Given the description of an element on the screen output the (x, y) to click on. 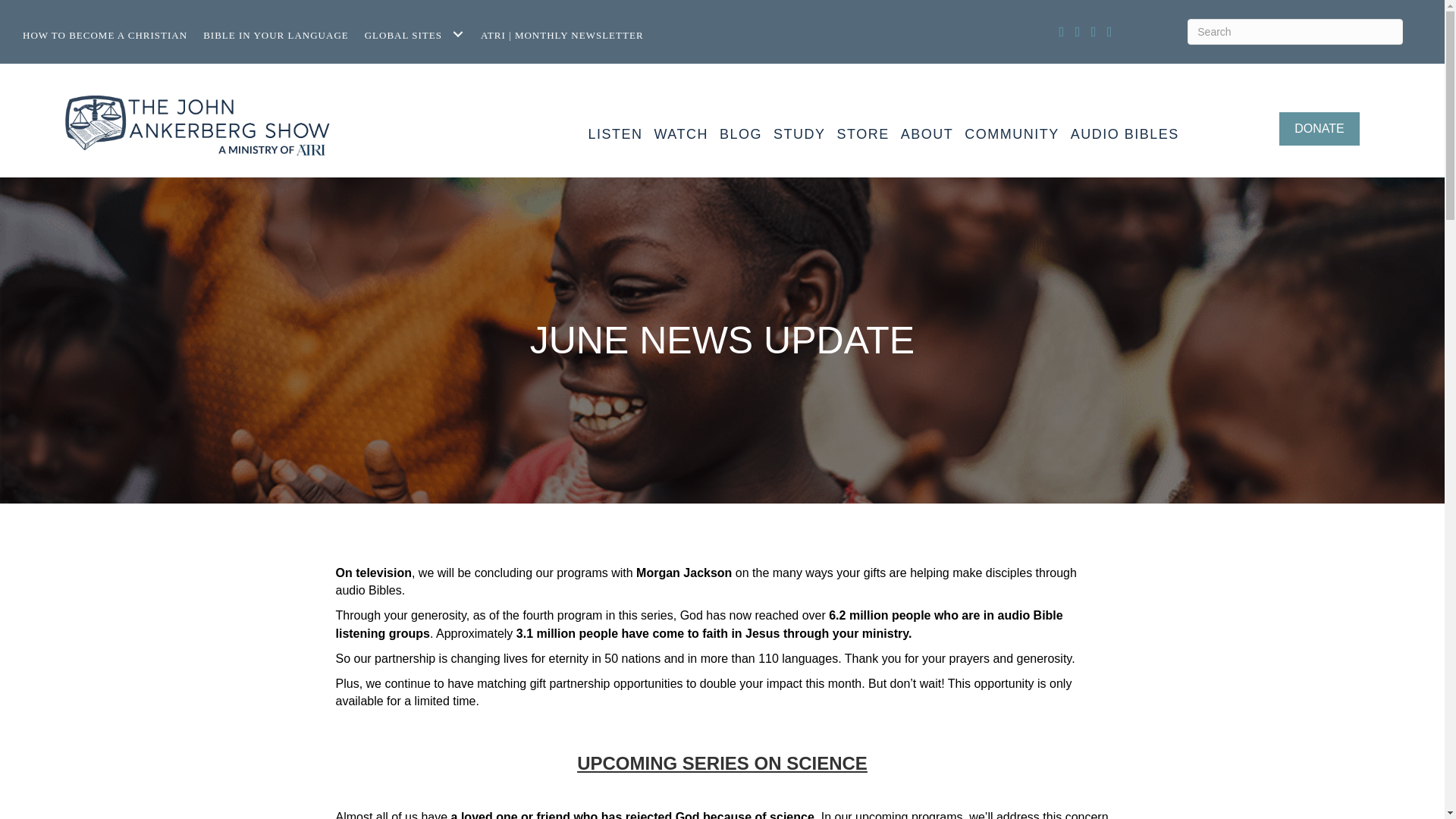
HOW TO BECOME A CHRISTIAN (108, 34)
GLOBAL SITES (419, 34)
Scale-and-Words-Light-Face-PRUSSIAN-BLUE-Horizontal-2048x420 (197, 128)
BIBLE IN YOUR LANGUAGE (280, 34)
Type and press Enter to search. (1295, 31)
